Given the description of an element on the screen output the (x, y) to click on. 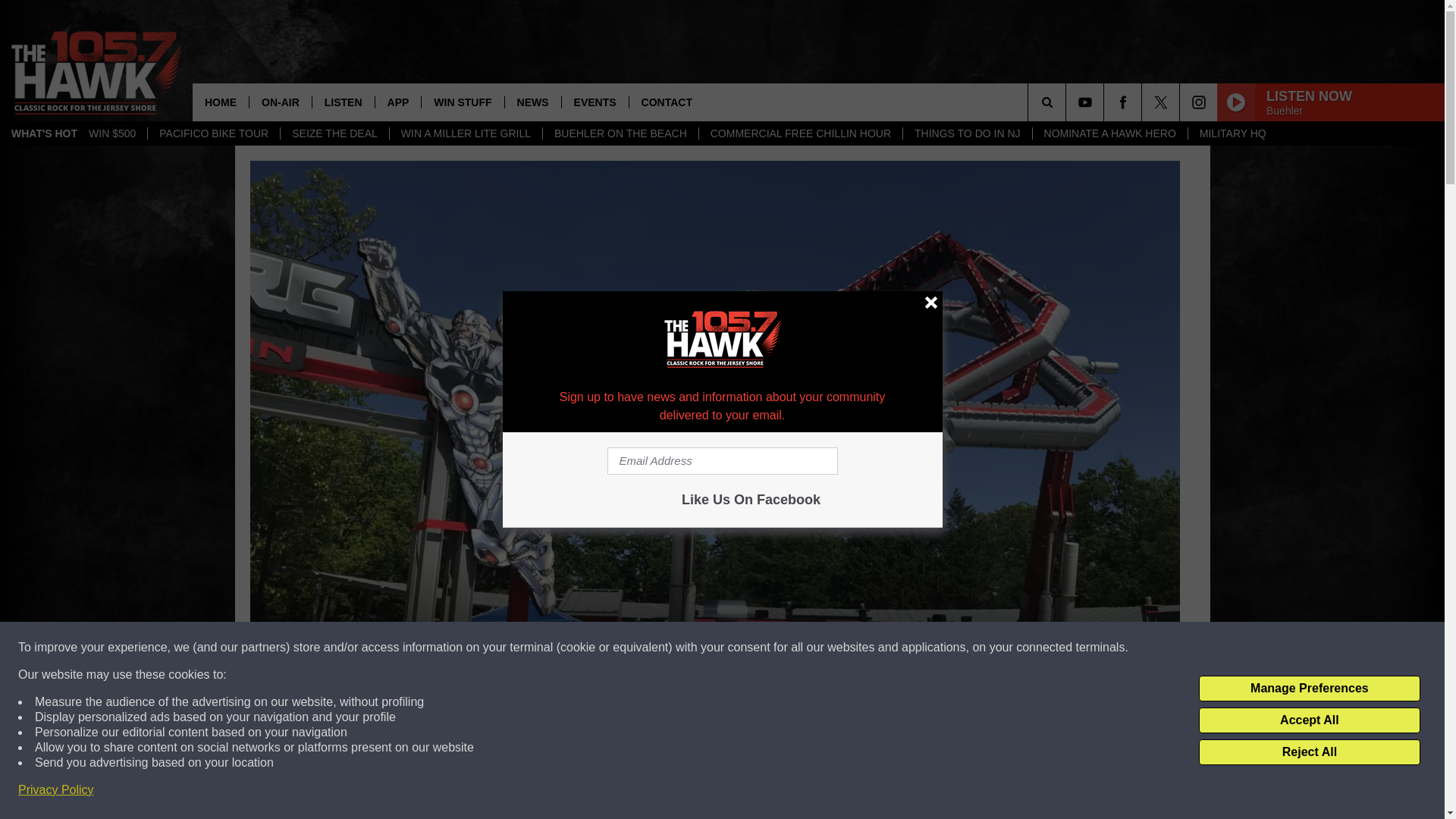
NOMINATE A HAWK HERO (1110, 133)
Manage Preferences (1309, 688)
Reject All (1309, 751)
MILITARY HQ (1233, 133)
BUEHLER ON THE BEACH (619, 133)
WIN A MILLER LITE GRILL (464, 133)
SEIZE THE DEAL (333, 133)
THINGS TO DO IN NJ (967, 133)
ON-AIR (279, 102)
LISTEN (342, 102)
WIN STUFF (461, 102)
COMMERCIAL FREE CHILLIN HOUR (800, 133)
SEARCH (1068, 102)
Share on Twitter (912, 791)
Email Address (722, 461)
